Given the description of an element on the screen output the (x, y) to click on. 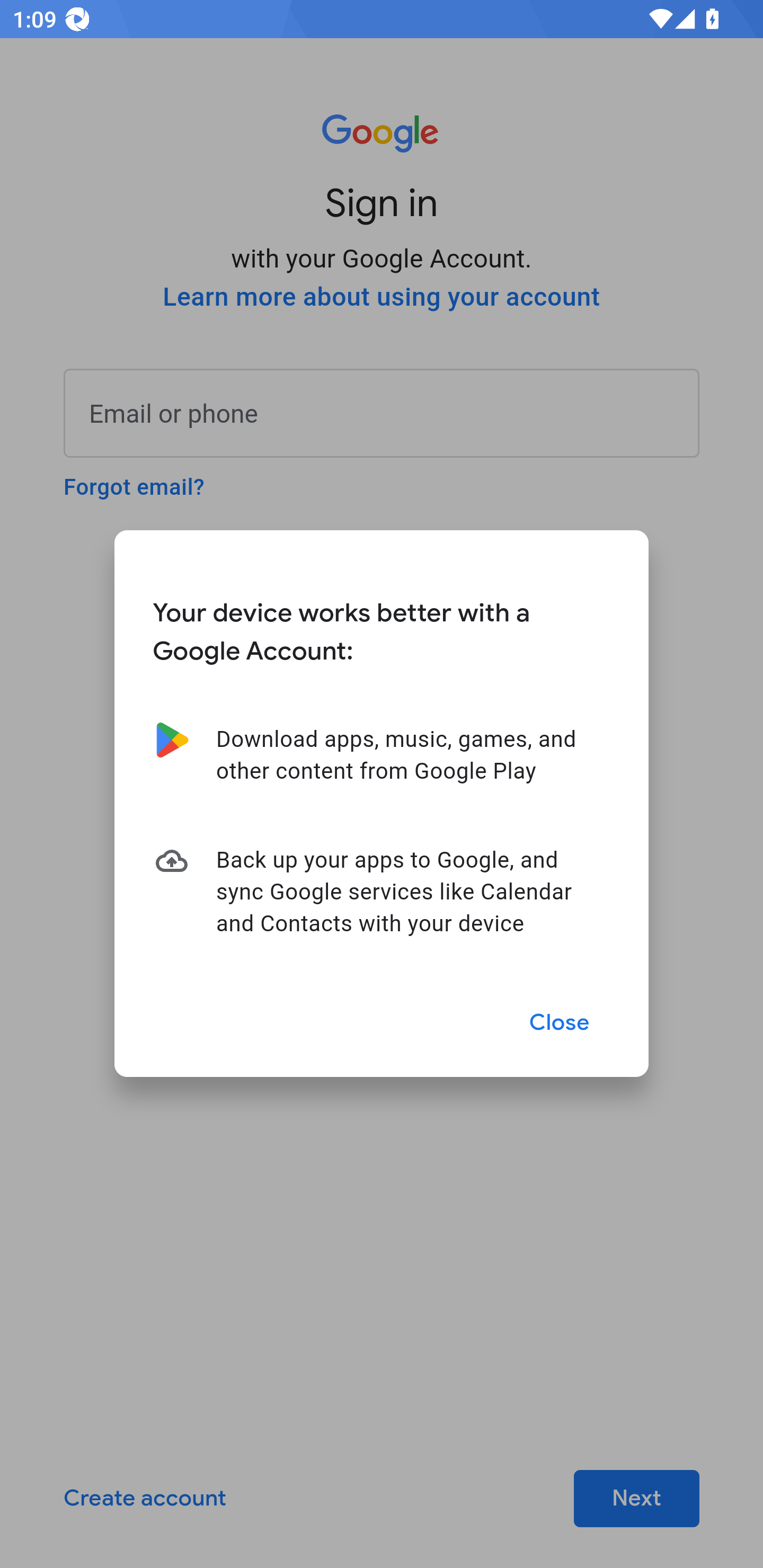
Close (559, 1022)
